Given the description of an element on the screen output the (x, y) to click on. 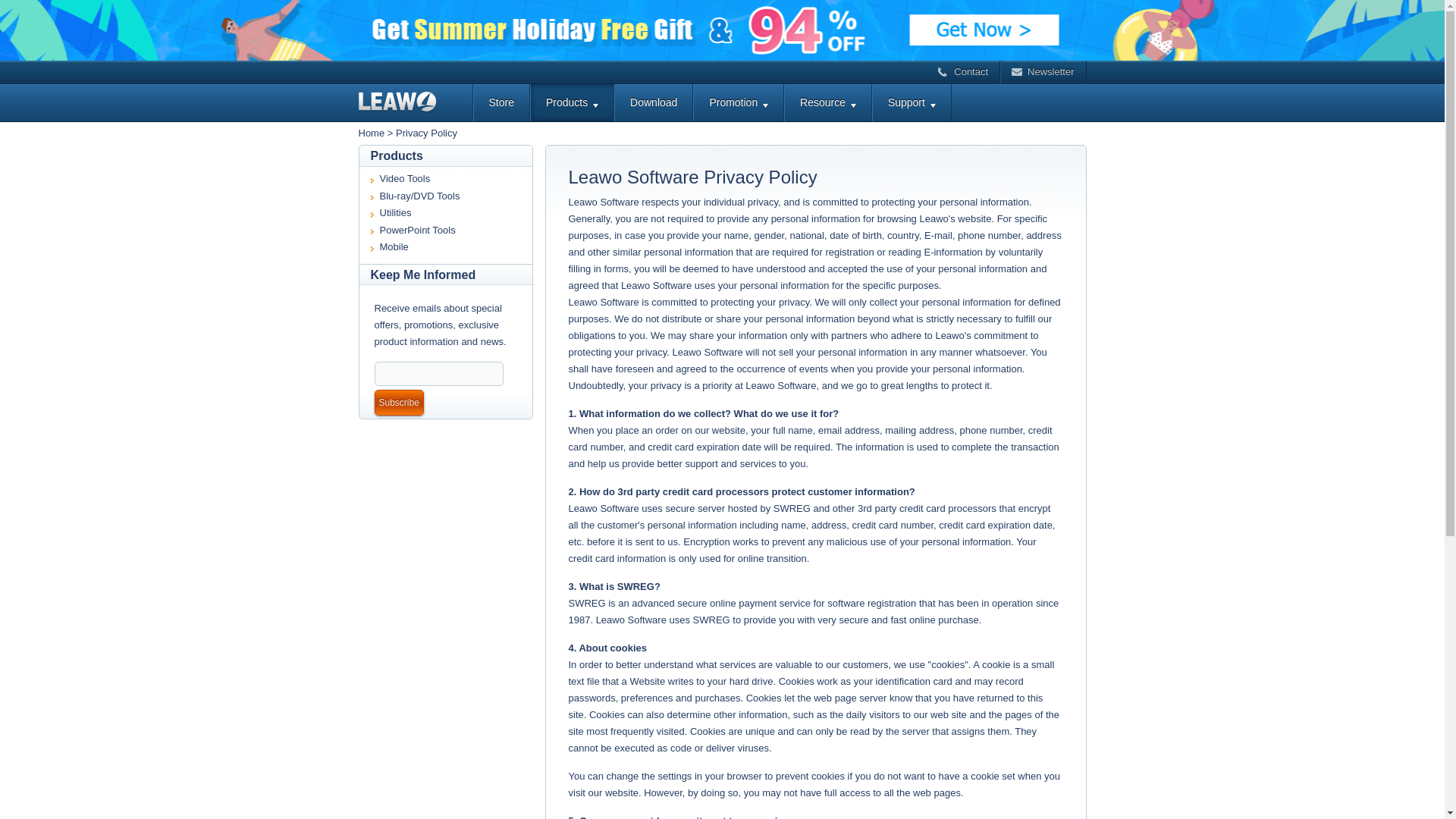
Products  (571, 102)
Subscribe (398, 402)
Contact (962, 71)
Newsletter (1042, 71)
leawo.com (414, 101)
Store (500, 102)
